Given the description of an element on the screen output the (x, y) to click on. 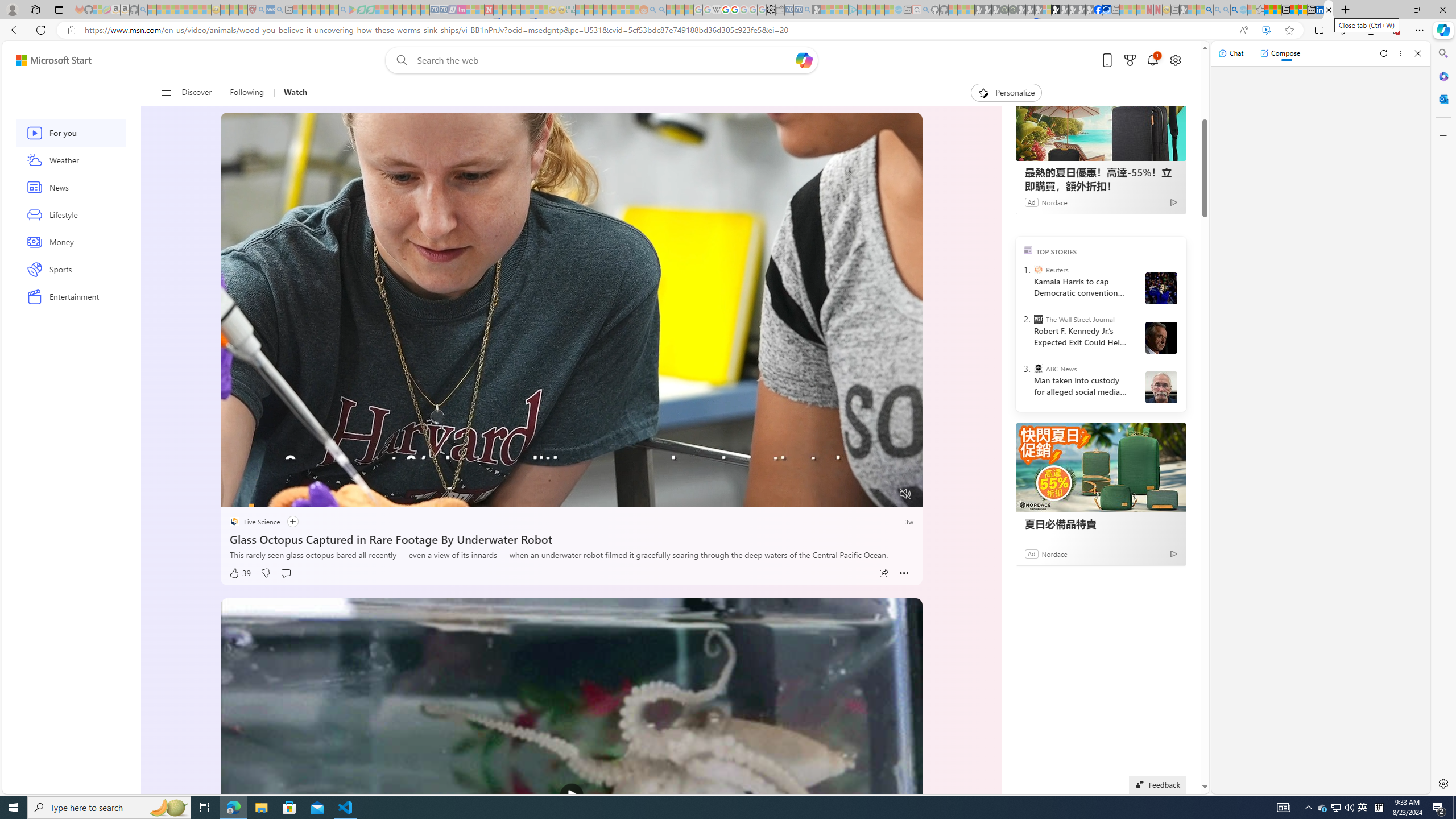
Play Video (571, 794)
Future Focus Report 2024 - Sleeping (1012, 9)
